Given the description of an element on the screen output the (x, y) to click on. 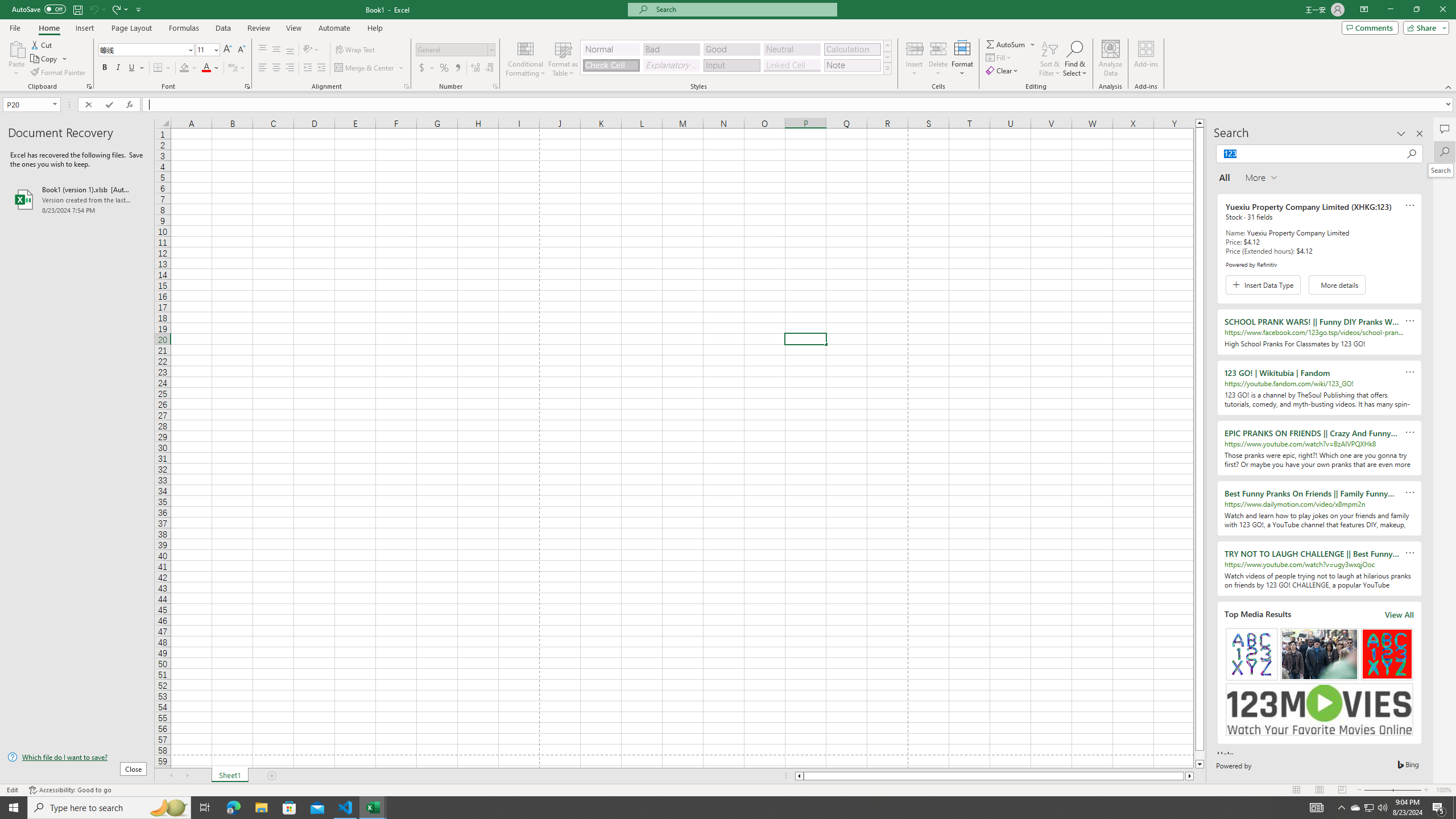
Borders (162, 67)
Conditional Formatting (525, 58)
Bottom Border (157, 67)
Bottom Align (290, 49)
Sort & Filter (1049, 58)
Fill (999, 56)
Underline (136, 67)
AutomationID: CellStylesGallery (736, 57)
Orientation (311, 49)
Fill Color (188, 67)
